Given the description of an element on the screen output the (x, y) to click on. 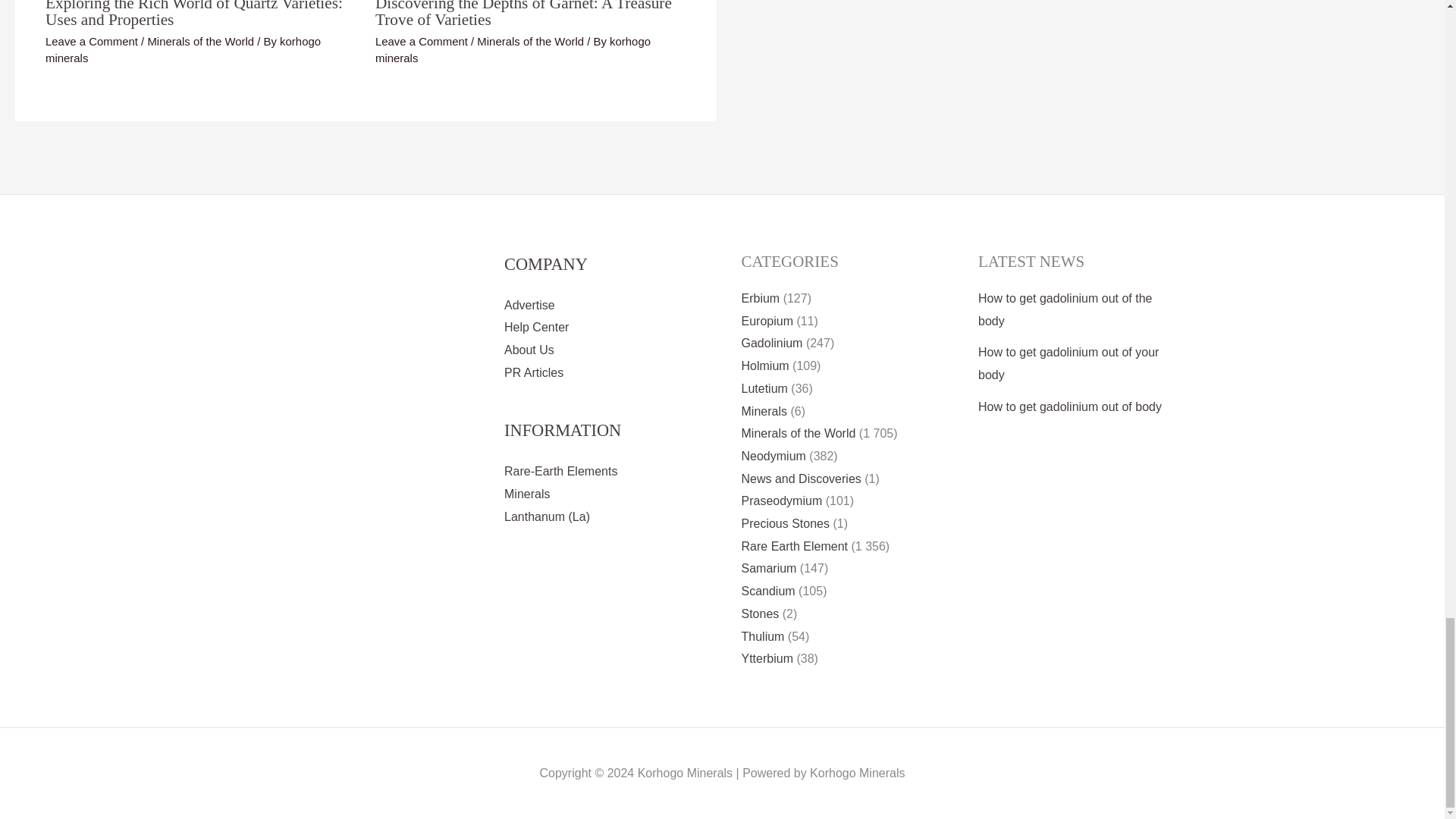
Minerals of the World (530, 41)
korhogo minerals (182, 49)
View all posts by korhogo minerals (182, 49)
korhogo minerals (512, 49)
Leave a Comment (91, 41)
Leave a Comment (421, 41)
View all posts by korhogo minerals (512, 49)
Minerals of the World (200, 41)
